Given the description of an element on the screen output the (x, y) to click on. 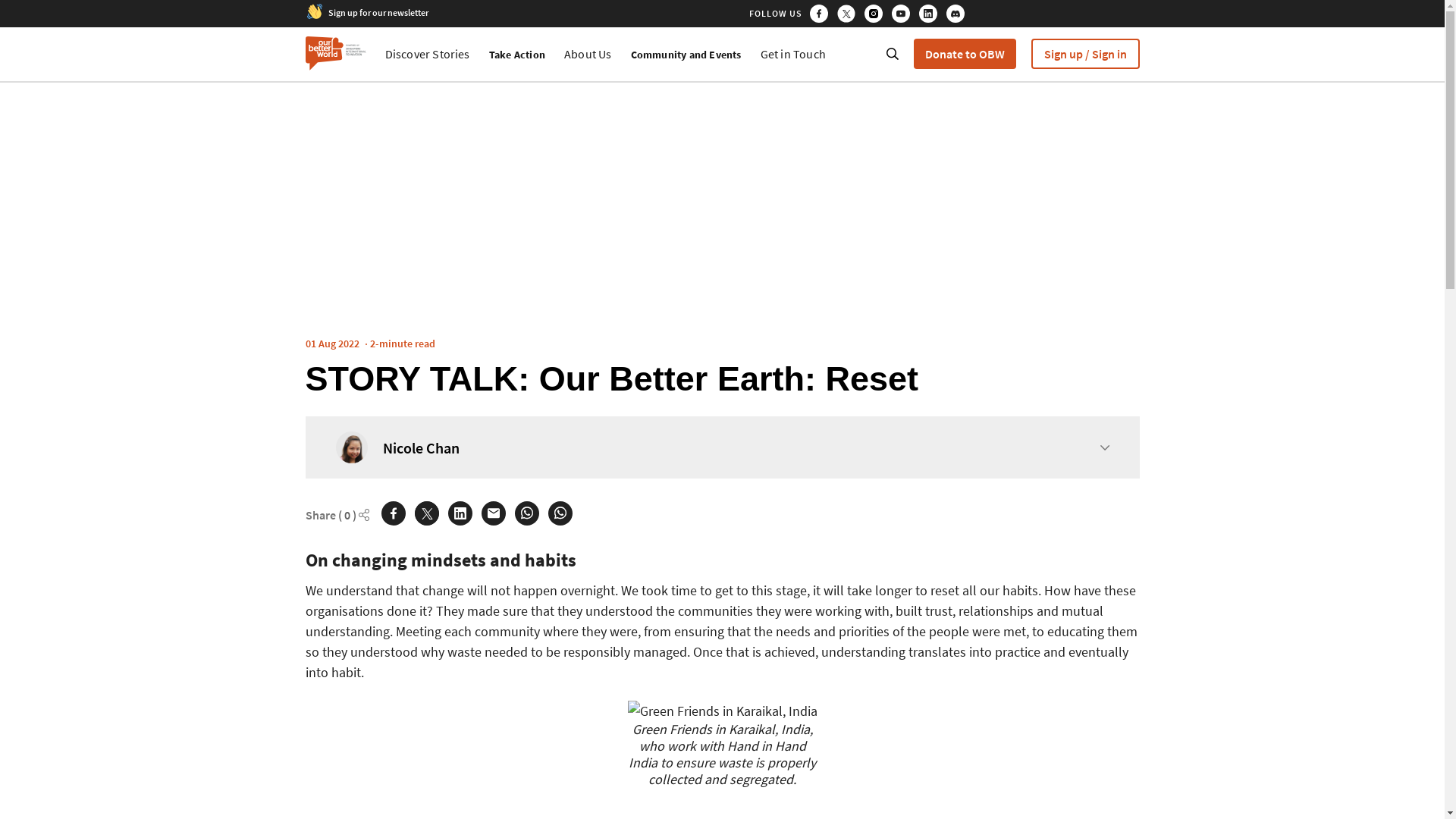
Sign up for our newsletter (377, 11)
Discover stories (792, 53)
Discover Stories (427, 53)
Discover stories (587, 53)
Community and events (685, 54)
Discover stories (427, 53)
Take action (516, 54)
Donate to OBW (963, 53)
